Given the description of an element on the screen output the (x, y) to click on. 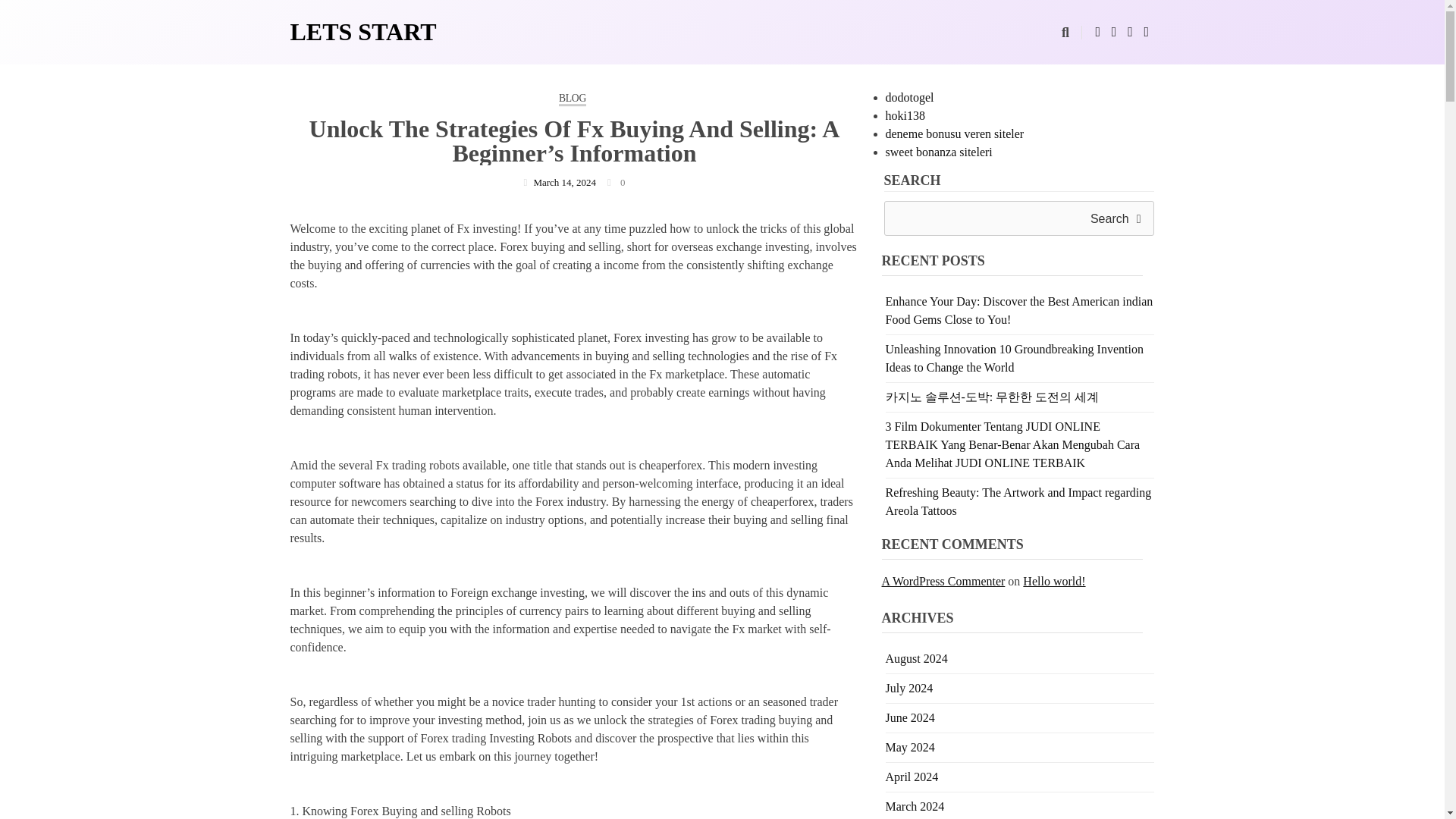
Hello world! (1053, 581)
July 2024 (909, 687)
sweet bonanza siteleri (938, 151)
May 2024 (909, 747)
March 2024 (914, 806)
A WordPress Commenter (942, 581)
deneme bonusu veren siteler (955, 133)
dodotogel (909, 97)
hoki138 (904, 115)
